Given the description of an element on the screen output the (x, y) to click on. 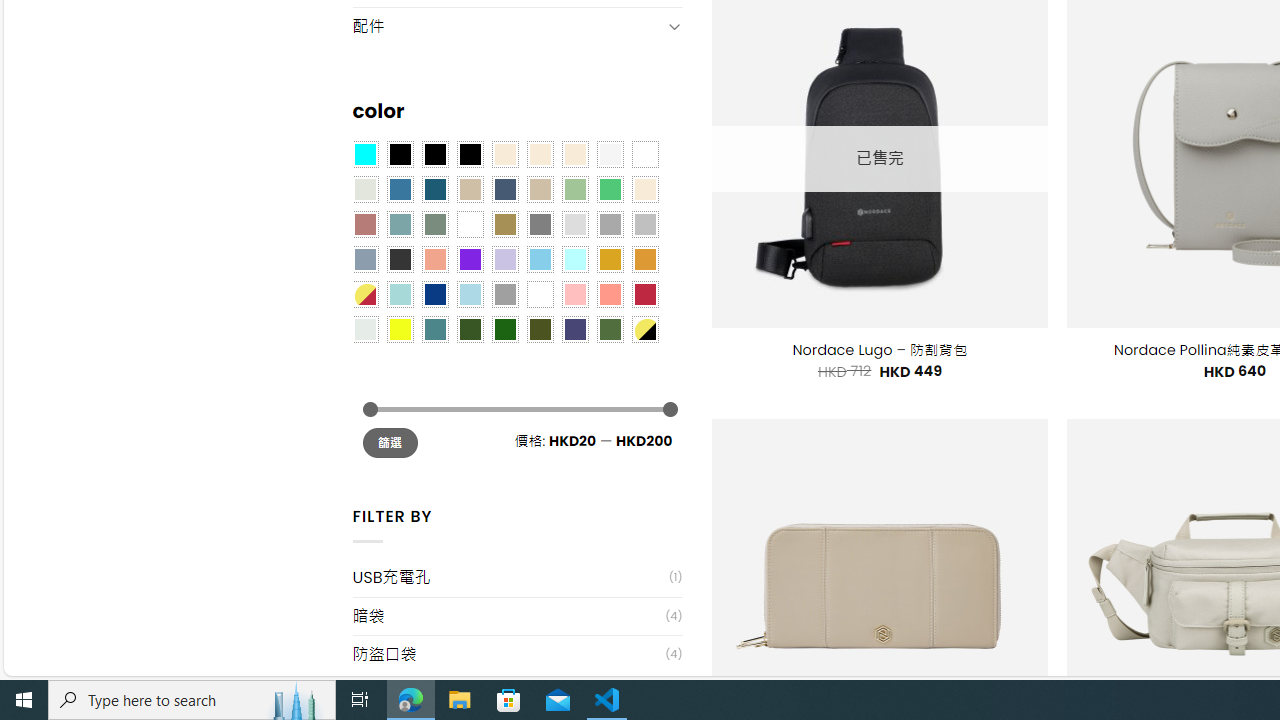
Cream (574, 154)
